Given the description of an element on the screen output the (x, y) to click on. 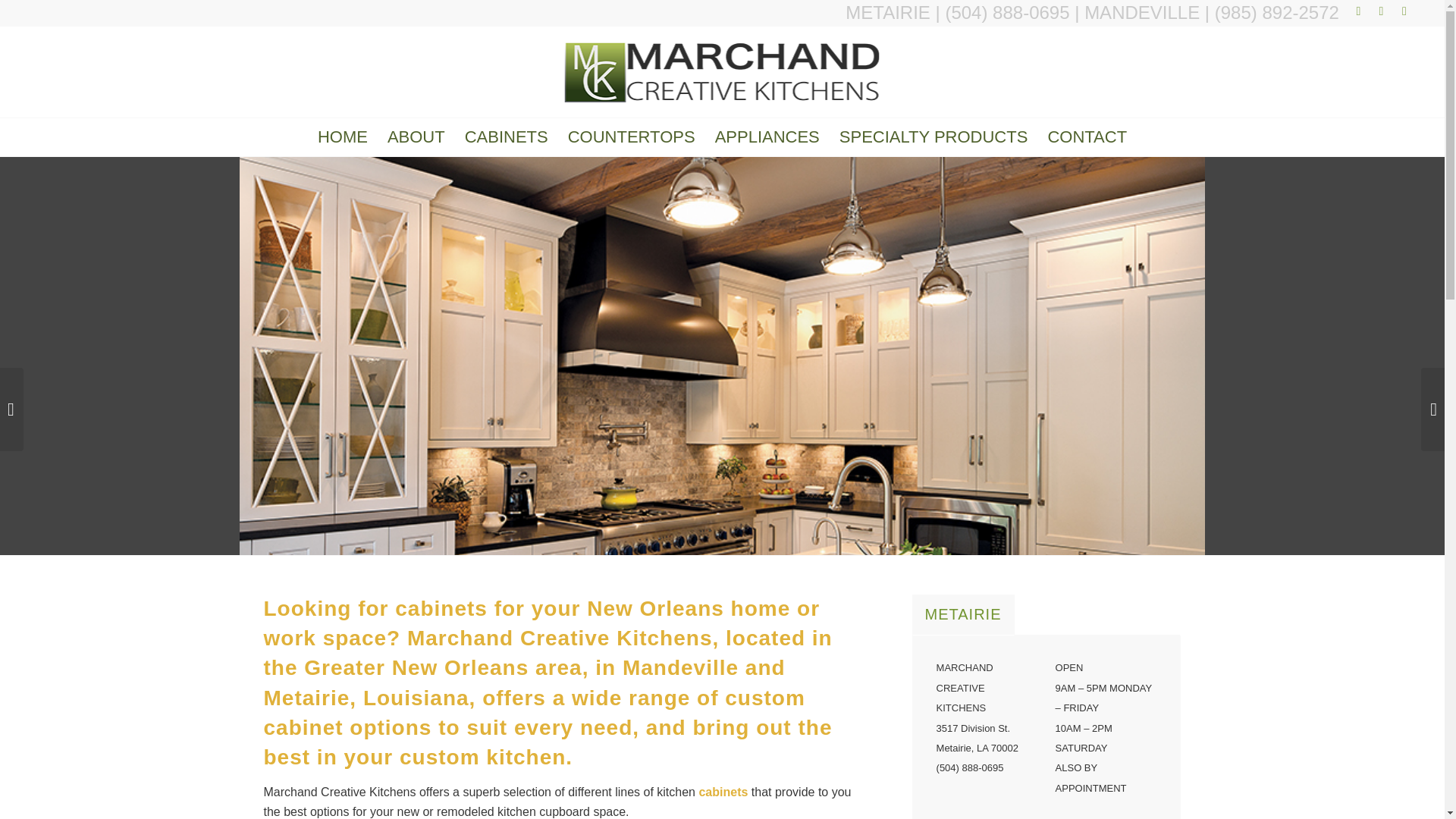
CABINETS (505, 136)
Instagram (1404, 11)
COUNTERTOPS (630, 136)
cabinets (723, 791)
ABOUT (415, 136)
Mail (1359, 11)
HOME (342, 136)
METAIRIE (887, 12)
Facebook (1380, 11)
APPLIANCES (766, 136)
